Given the description of an element on the screen output the (x, y) to click on. 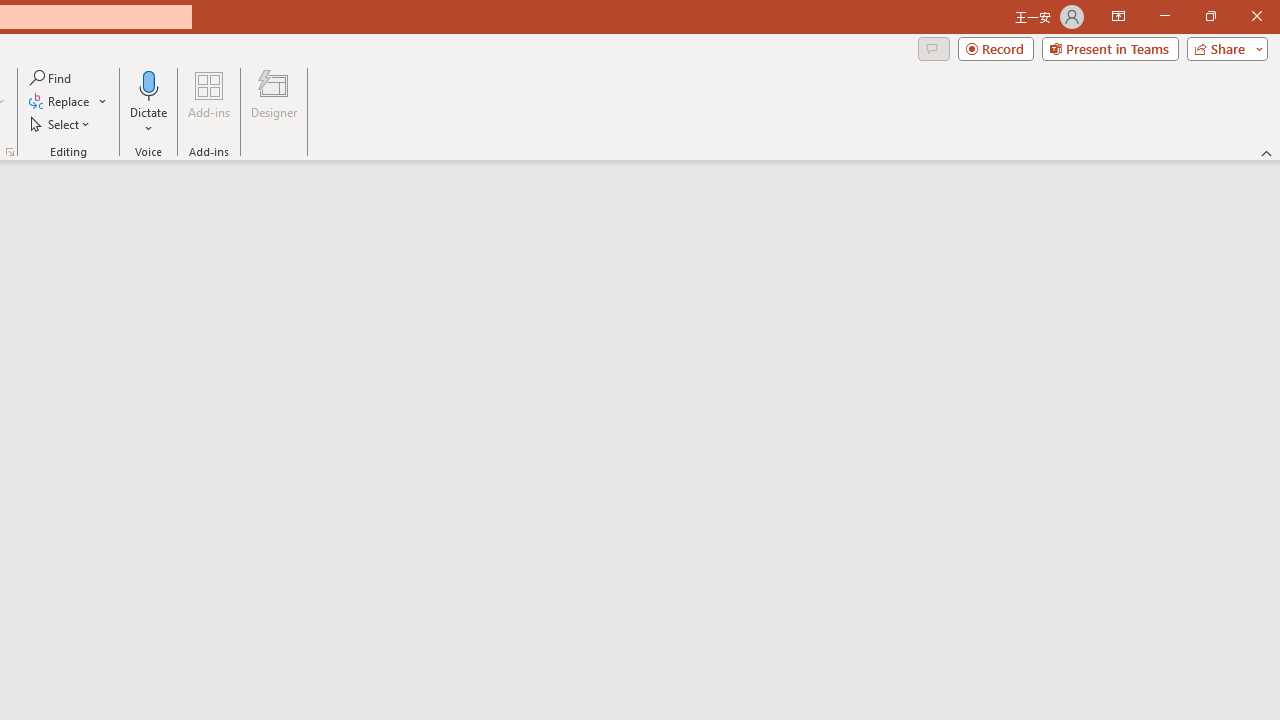
Close (1256, 16)
Replace... (60, 101)
Share (1223, 48)
Collapse the Ribbon (1267, 152)
